Given the description of an element on the screen output the (x, y) to click on. 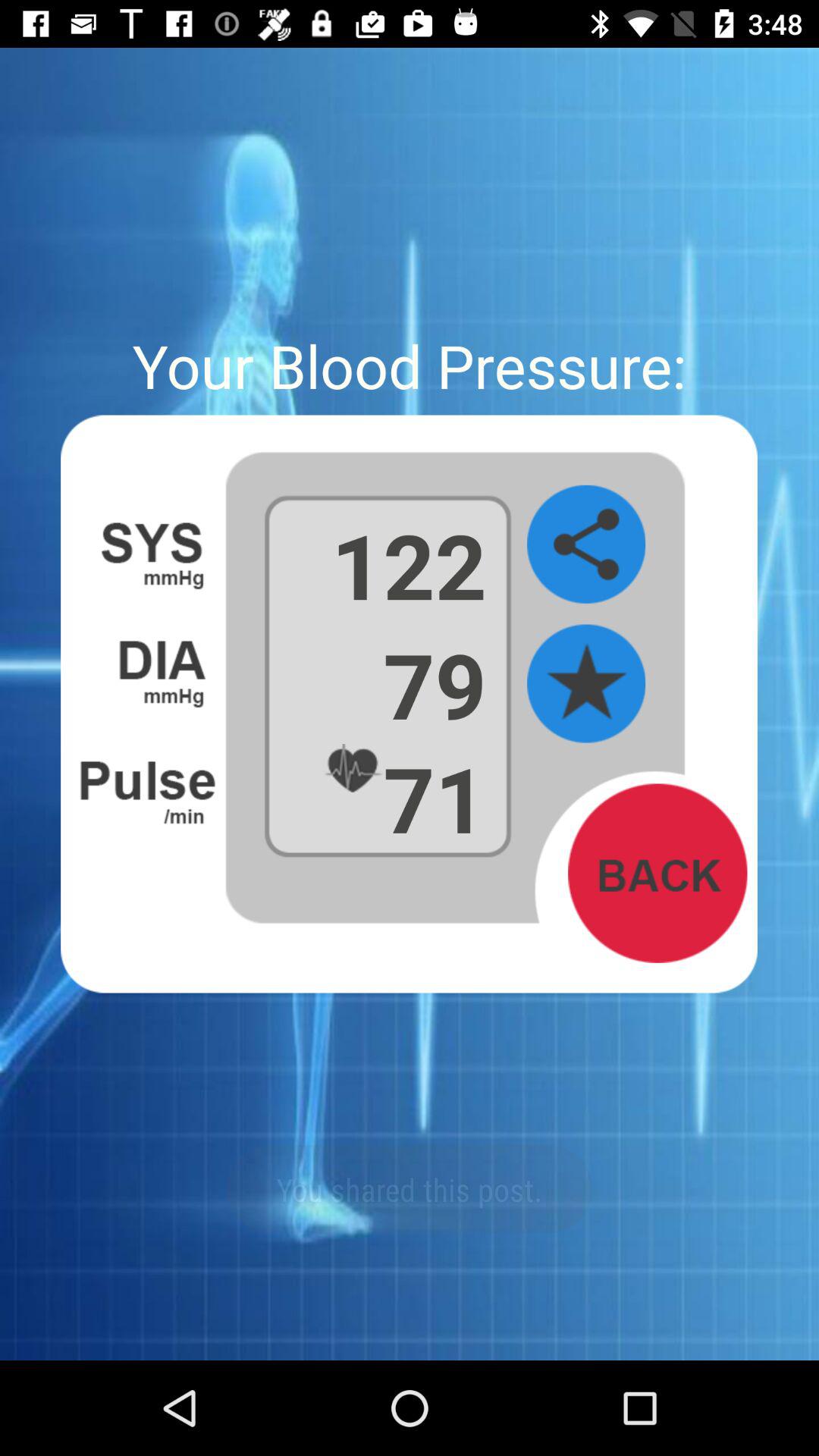
share (586, 544)
